Given the description of an element on the screen output the (x, y) to click on. 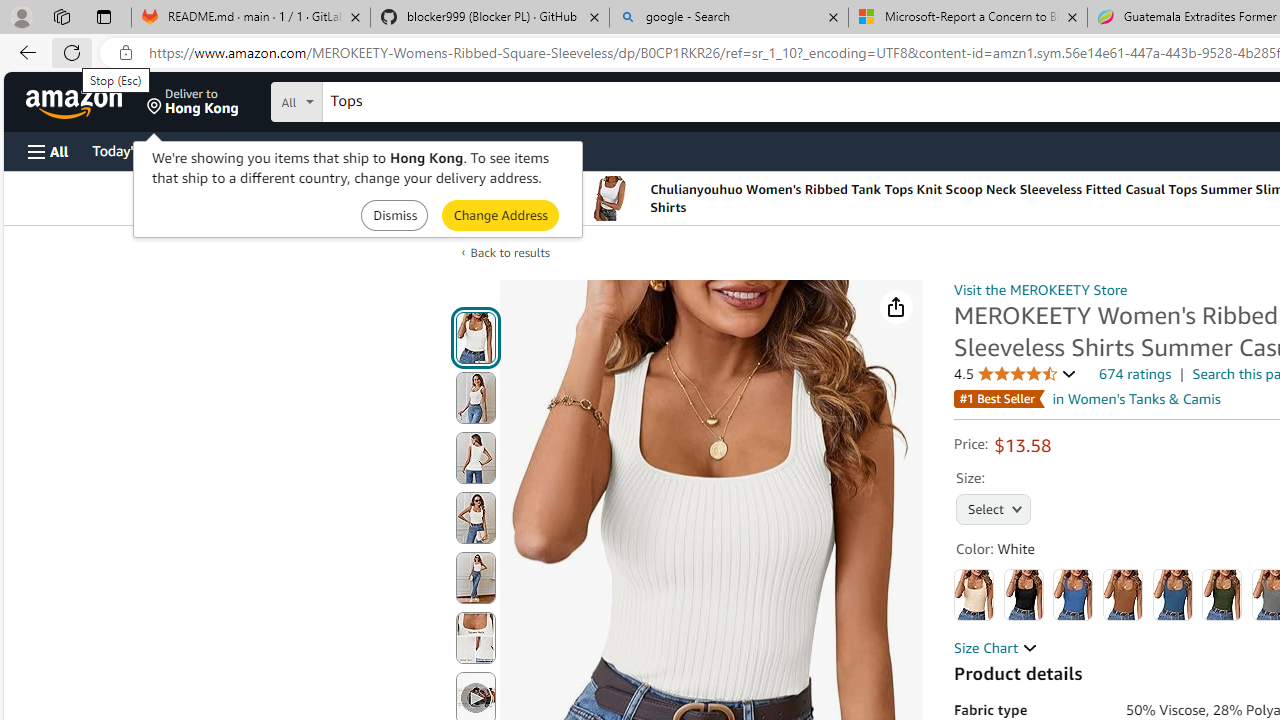
Green (1222, 594)
Dusty Blue (1172, 594)
674 ratings (1135, 374)
Caramel (1123, 594)
Open Menu (48, 151)
Back to results (509, 252)
Share (896, 307)
Caramel (1123, 594)
Today's Deals (134, 150)
#1 Best Seller in Women's Tanks & Camis (1087, 399)
